Given the description of an element on the screen output the (x, y) to click on. 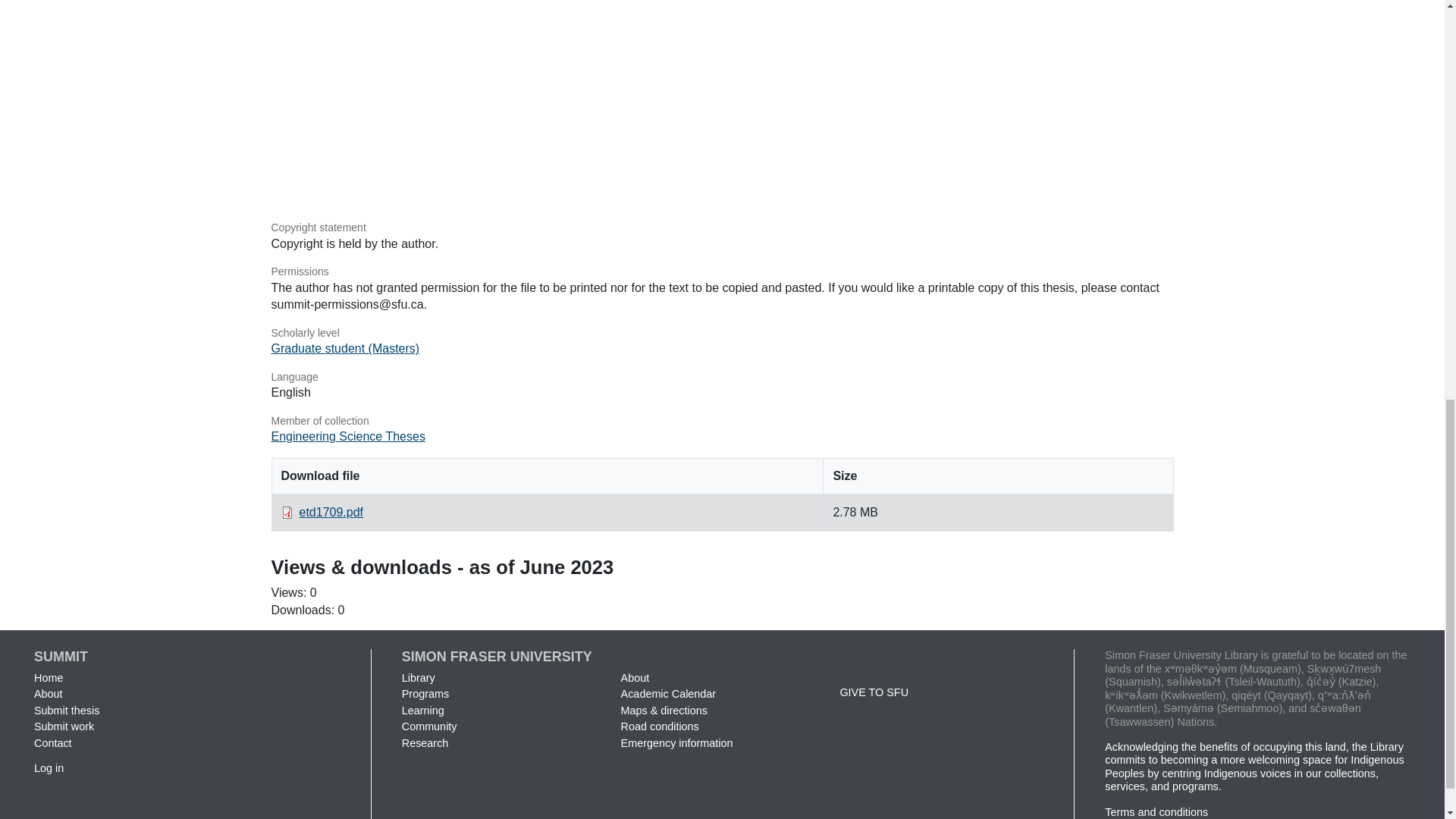
Copyright statement (721, 227)
Member of collection (721, 421)
Permissions (721, 272)
Library (418, 677)
Submit thesis (66, 710)
Home (47, 677)
Research (424, 743)
About (47, 693)
Log in (48, 767)
Language (721, 377)
Submit work (63, 726)
Scholarly level (721, 333)
Contact (52, 743)
Engineering Science Theses (347, 436)
